Given the description of an element on the screen output the (x, y) to click on. 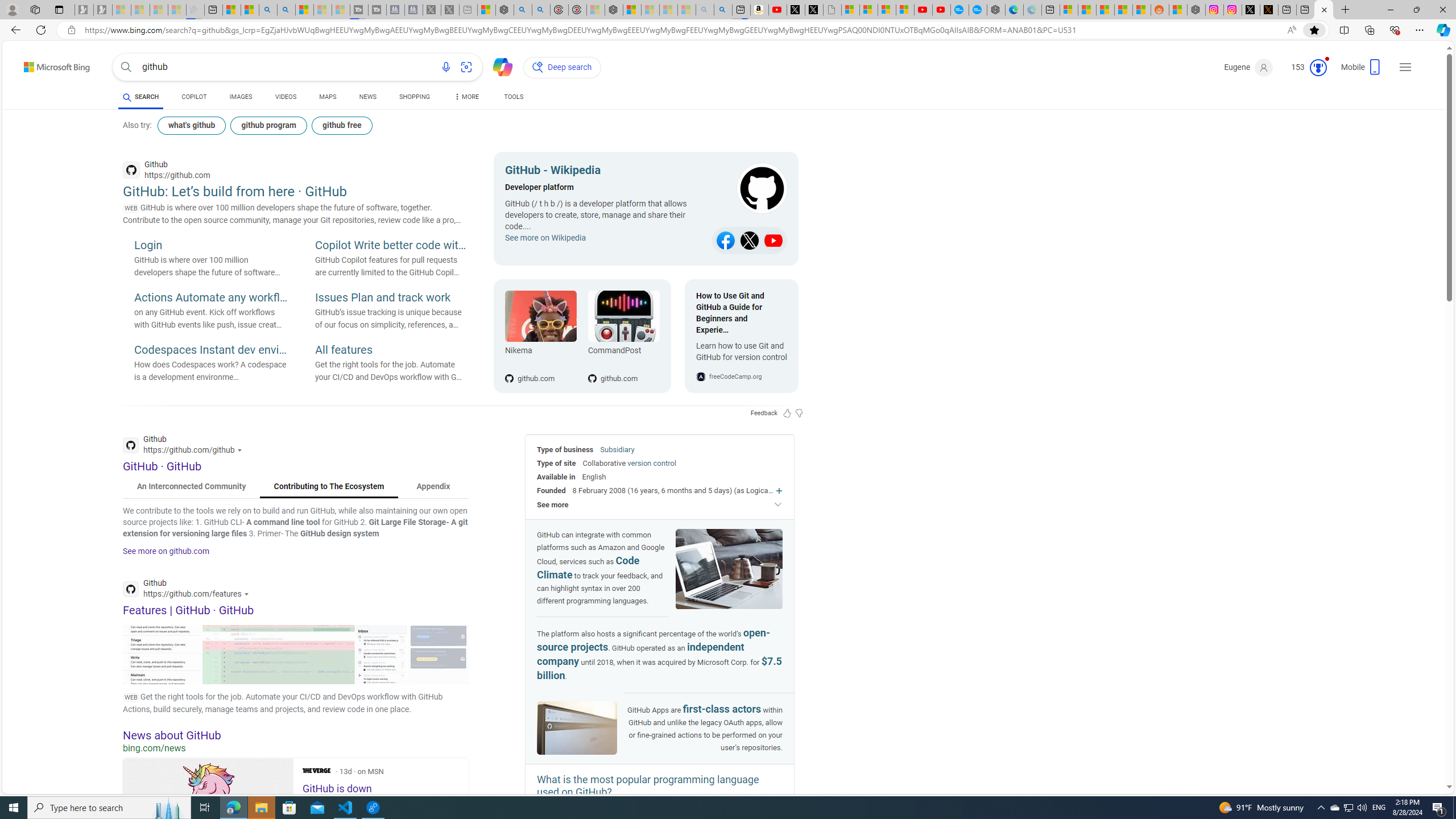
poe ++ standard - Search (540, 9)
Log in to X / X (1251, 9)
COPILOT (193, 98)
Untitled (831, 9)
bing.com/news (295, 748)
IMAGES (240, 96)
CommandPost CommandPost github.com (617, 335)
Class: b_wdblk (750, 188)
